Given the description of an element on the screen output the (x, y) to click on. 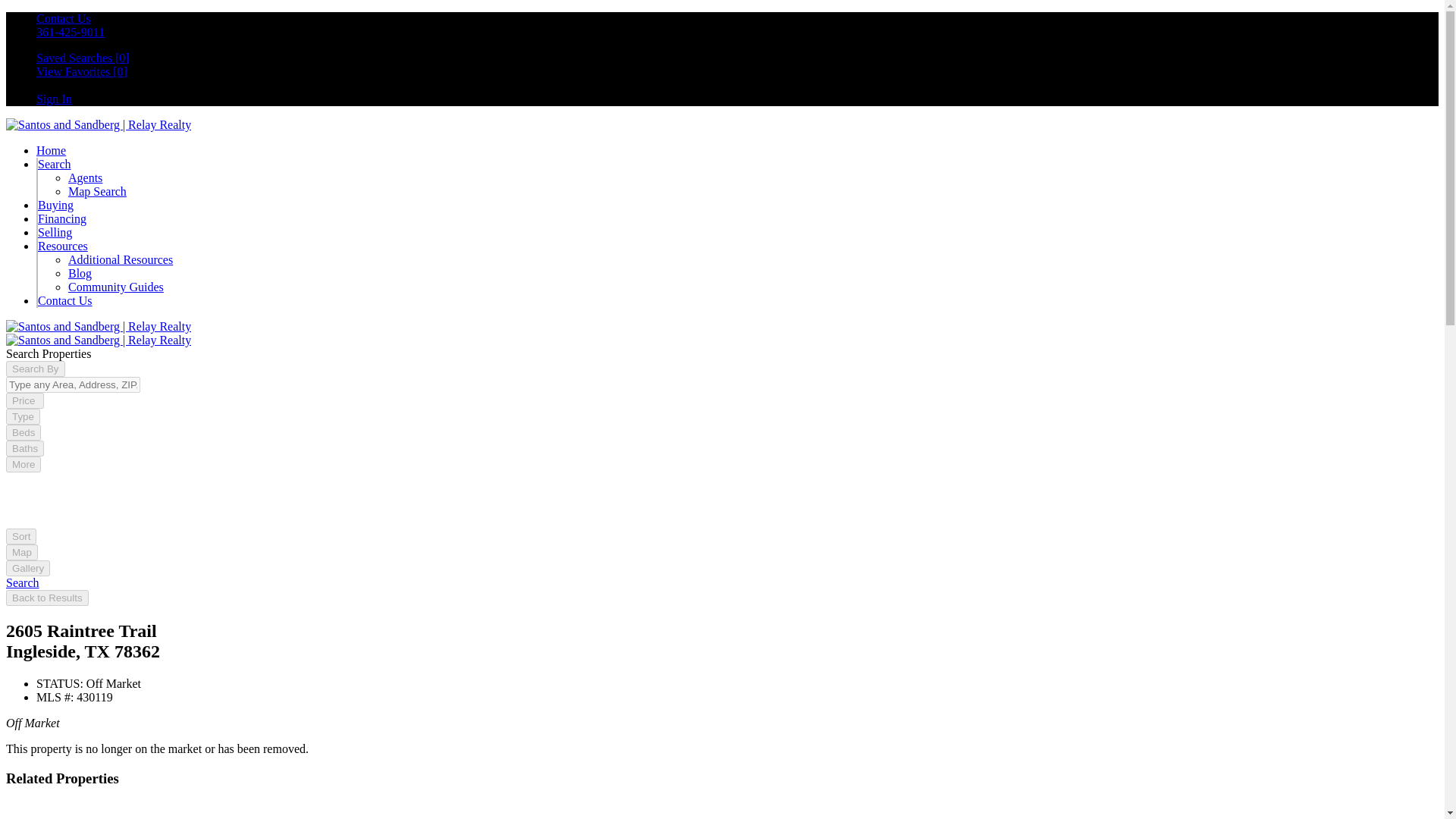
Back to Results (46, 597)
Baths (24, 448)
Contact Us (65, 300)
Map View (21, 551)
Gallery (27, 568)
Buying (55, 205)
Agents (84, 177)
Contact Us (63, 18)
Price  (24, 400)
Beds (22, 432)
361-425-9011 (70, 31)
Gallery (27, 567)
Map (21, 552)
Search (22, 582)
Sort (20, 536)
